Given the description of an element on the screen output the (x, y) to click on. 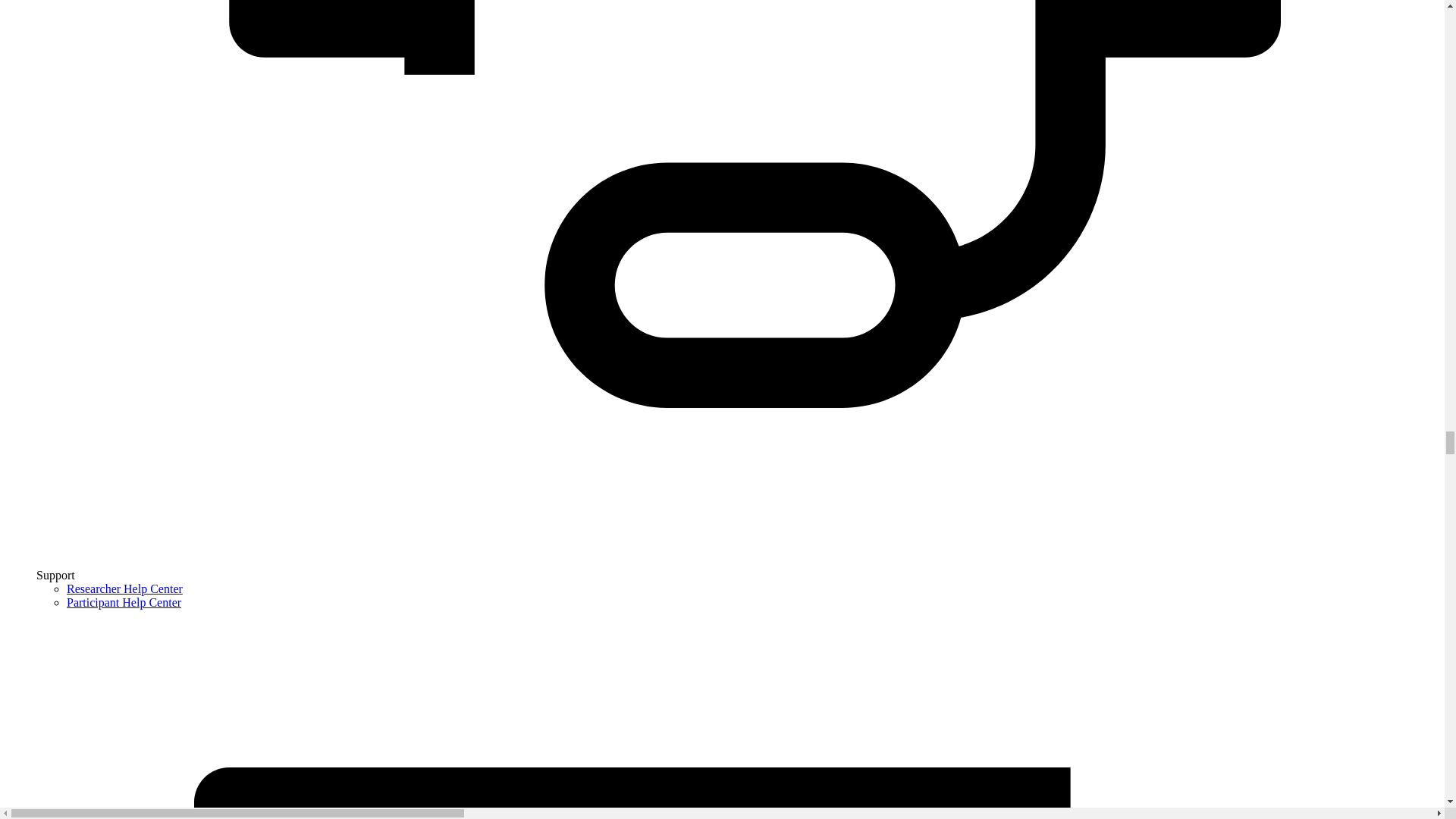
Participant Help Center (123, 602)
Researcher Help Center (124, 588)
